Given the description of an element on the screen output the (x, y) to click on. 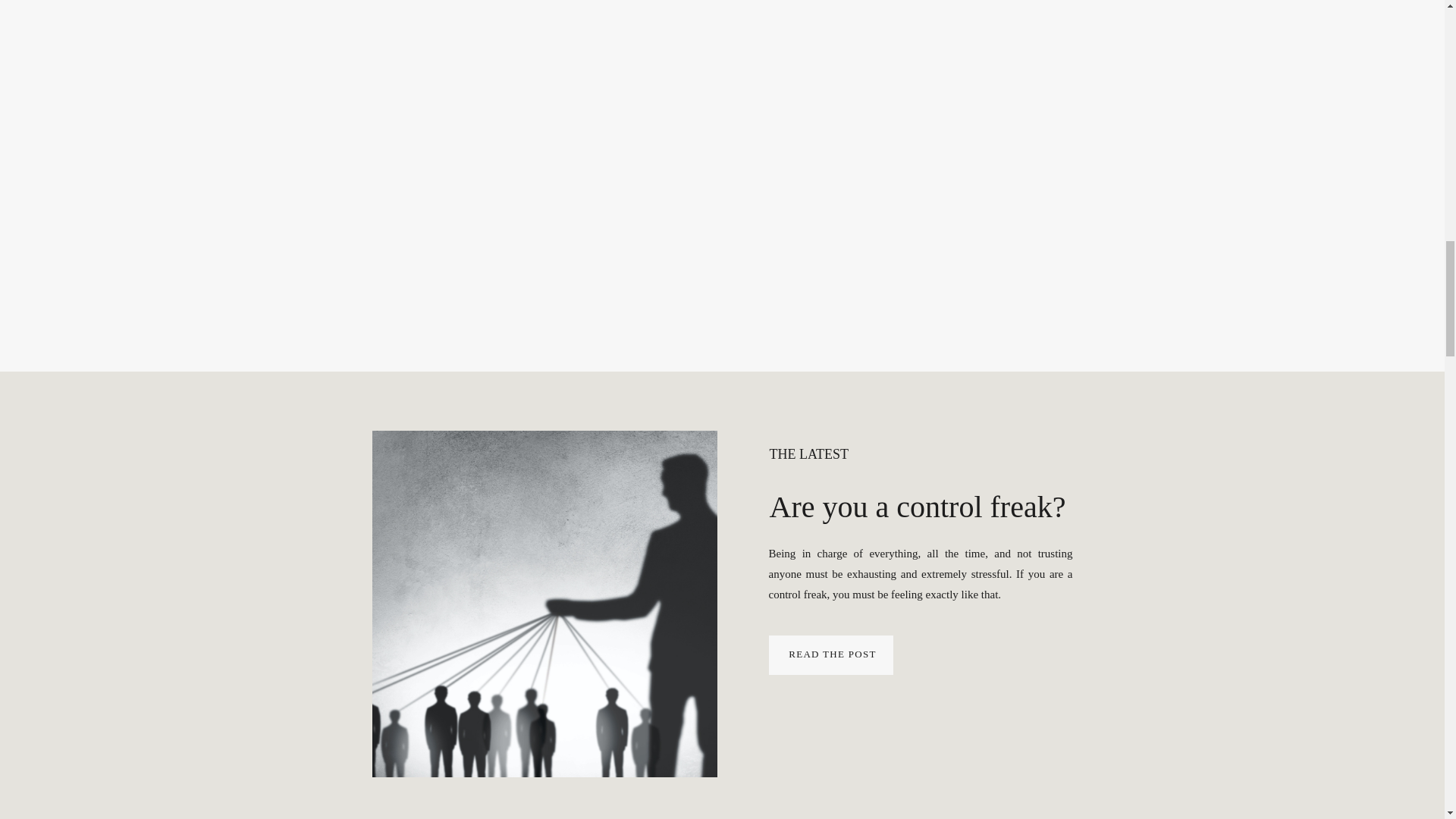
Are you a control freak? (830, 654)
Are you a control freak? (543, 603)
Are you a control freak? (916, 506)
READ THE POST (831, 654)
Are you a control freak? (831, 654)
